Given the description of an element on the screen output the (x, y) to click on. 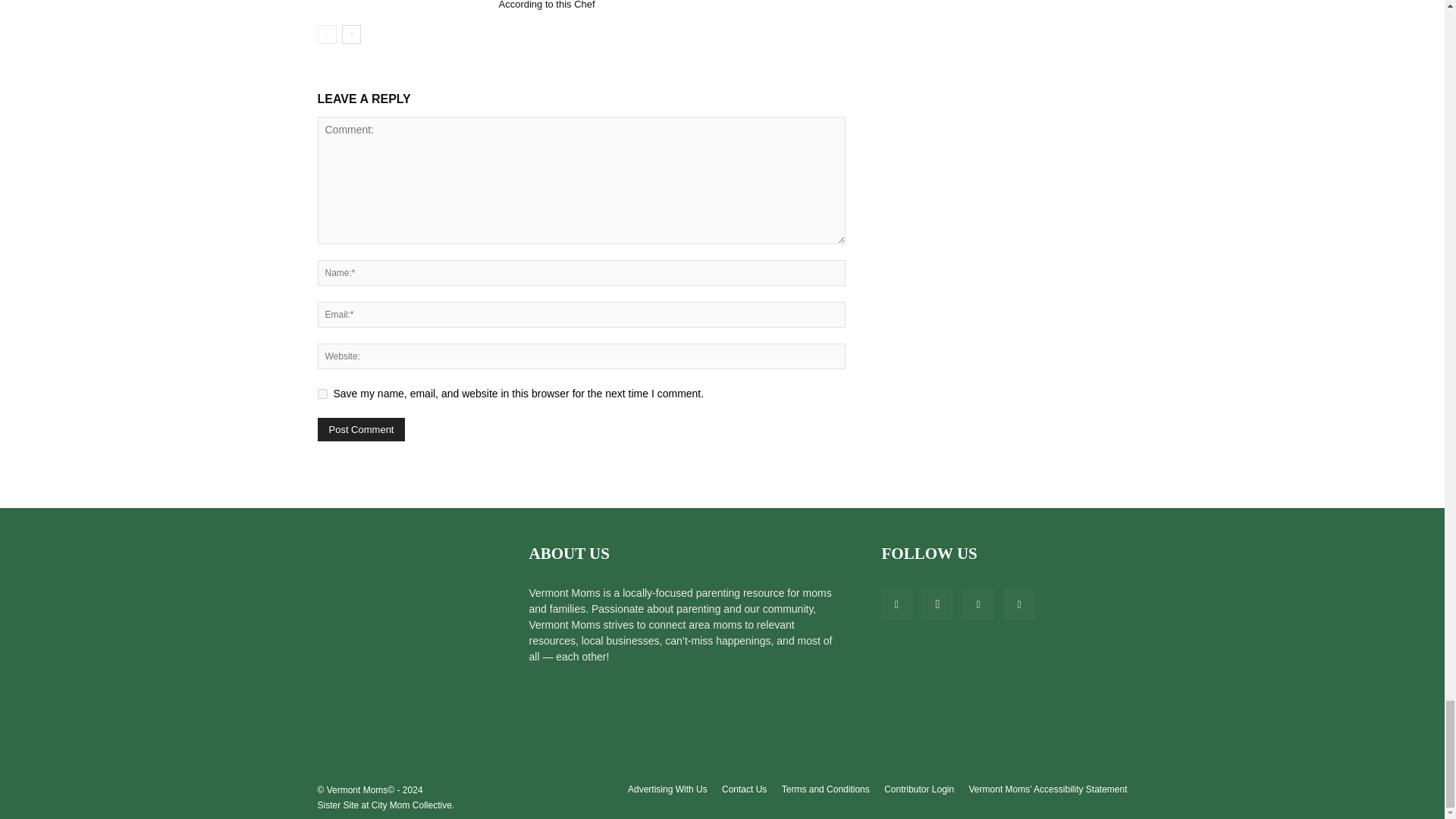
Post Comment (360, 429)
yes (321, 393)
